Given the description of an element on the screen output the (x, y) to click on. 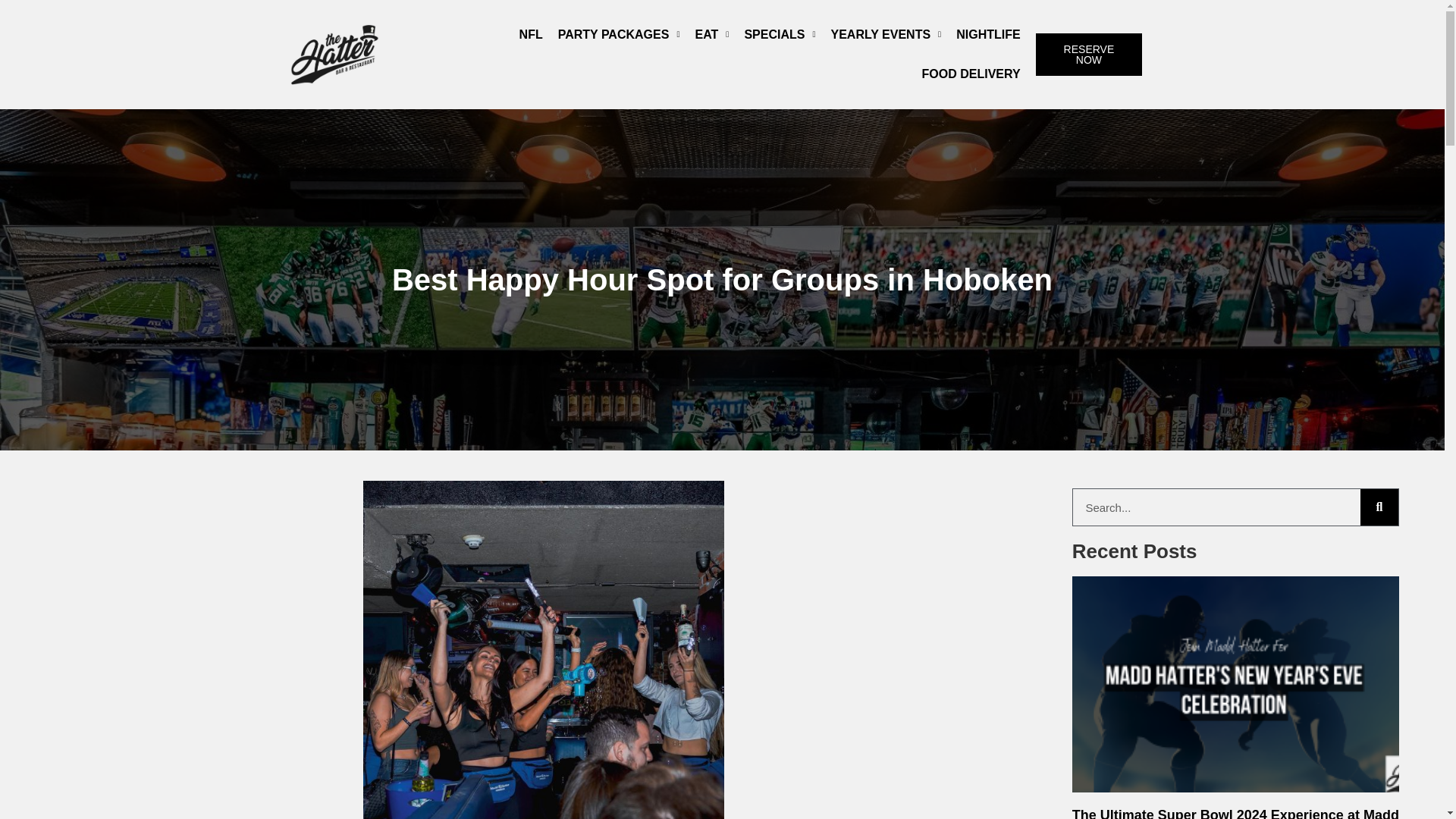
PARTY PACKAGES (618, 34)
NIGHTLIFE (988, 34)
SPECIALS (779, 34)
Search (1216, 506)
EAT (711, 34)
FOOD DELIVERY (970, 74)
NFL (531, 34)
Search (1378, 506)
YEARLY EVENTS (885, 34)
